Given the description of an element on the screen output the (x, y) to click on. 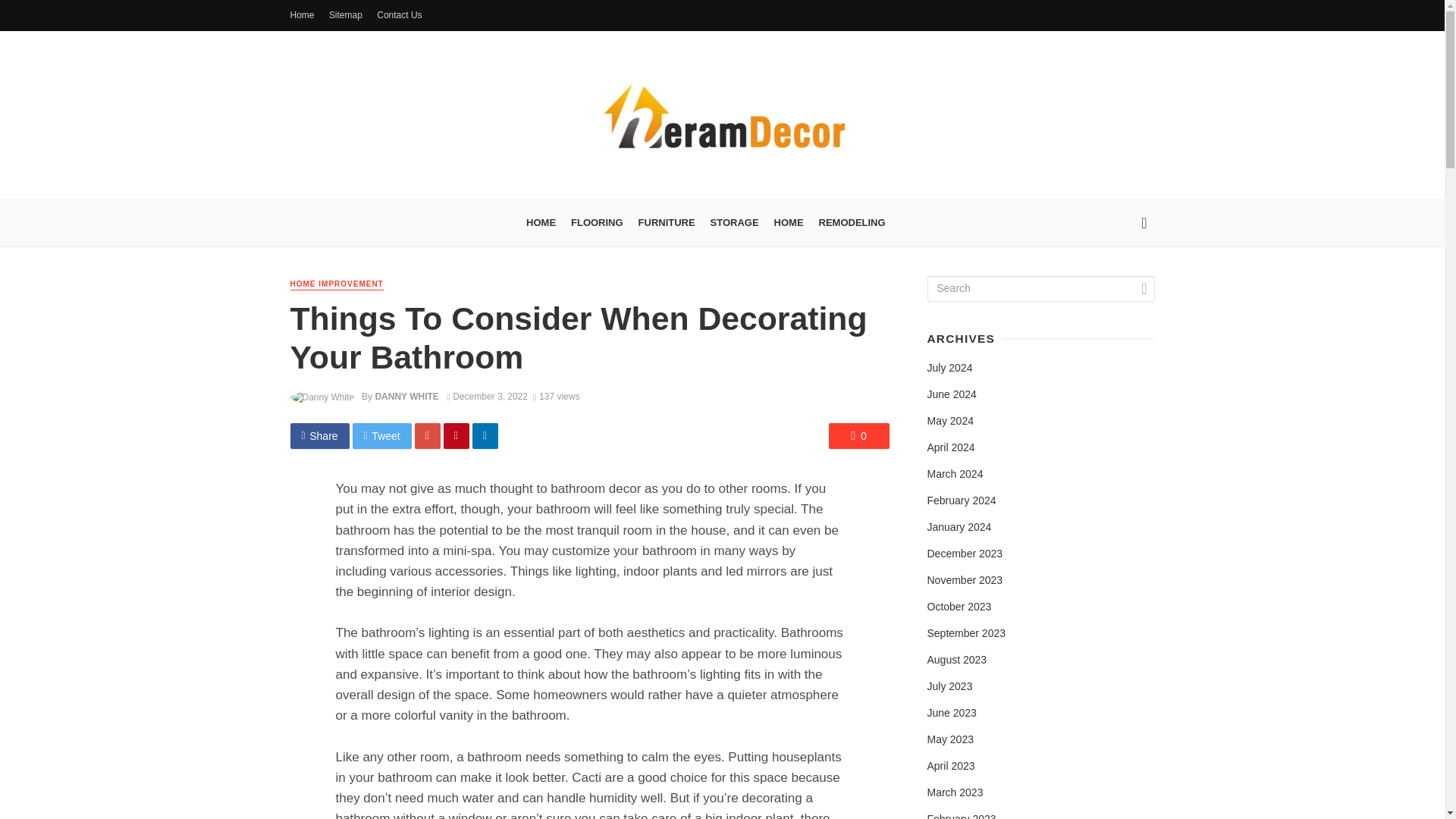
Contact Us (399, 14)
Tweet (382, 435)
July 2024 (949, 368)
Share (319, 435)
May 2024 (949, 421)
HOME IMPROVEMENT (335, 284)
Share on Linkedin (484, 435)
0 (858, 435)
FURNITURE (666, 222)
February 2024 (960, 500)
June 2024 (950, 394)
HOME (540, 222)
December 3, 2022 at 5:43 am (486, 396)
March 2024 (954, 474)
FLOORING (596, 222)
